Given the description of an element on the screen output the (x, y) to click on. 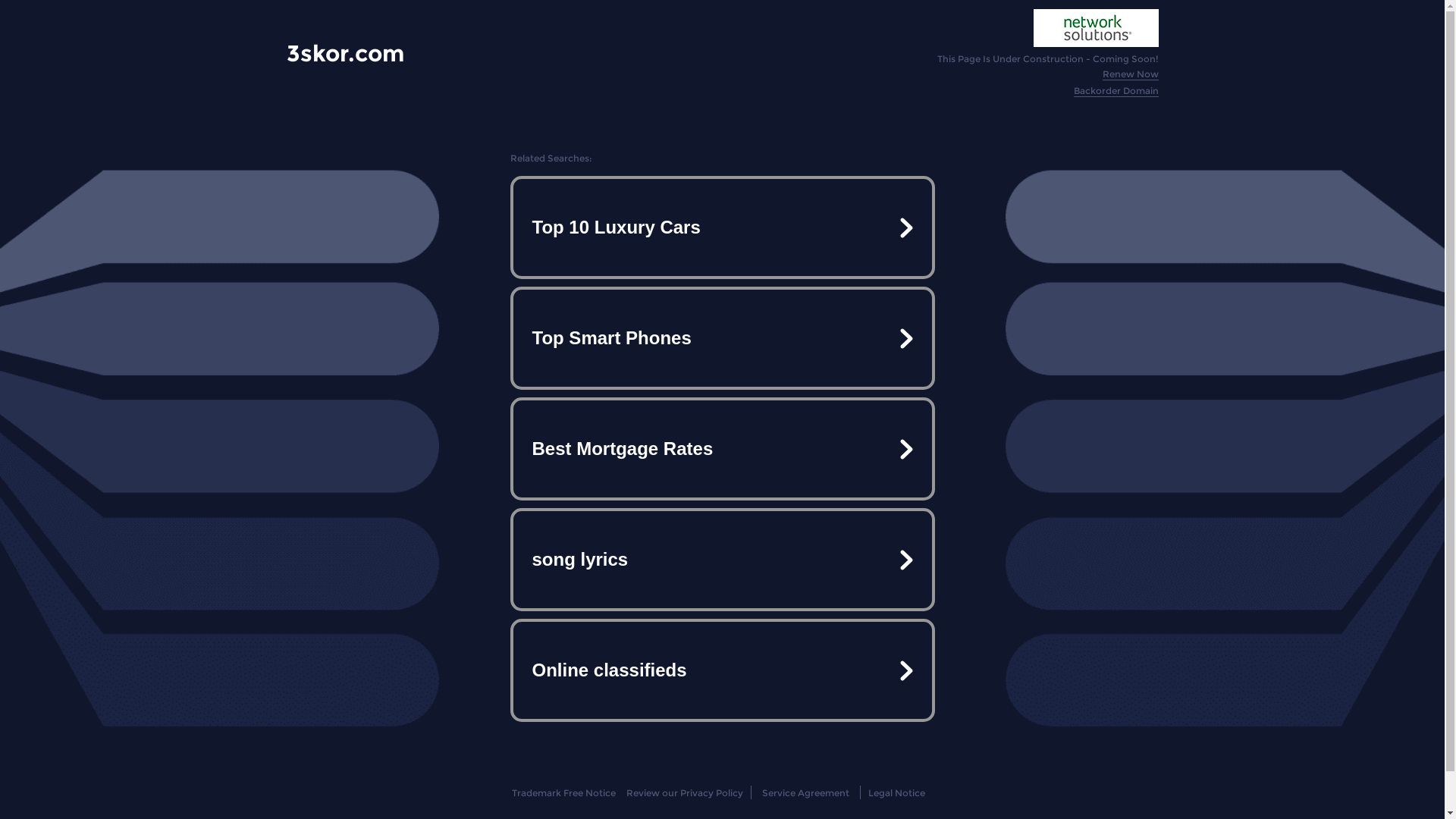
Best Mortgage Rates Element type: text (721, 448)
3skor.com Element type: text (345, 53)
Legal Notice Element type: text (896, 792)
Top 10 Luxury Cars Element type: text (721, 227)
song lyrics Element type: text (721, 559)
Trademark Free Notice Element type: text (563, 792)
Top Smart Phones Element type: text (721, 337)
Service Agreement Element type: text (805, 792)
Renew Now Element type: text (1130, 74)
Online classifieds Element type: text (721, 669)
Review our Privacy Policy Element type: text (684, 792)
Backorder Domain Element type: text (1115, 90)
